Given the description of an element on the screen output the (x, y) to click on. 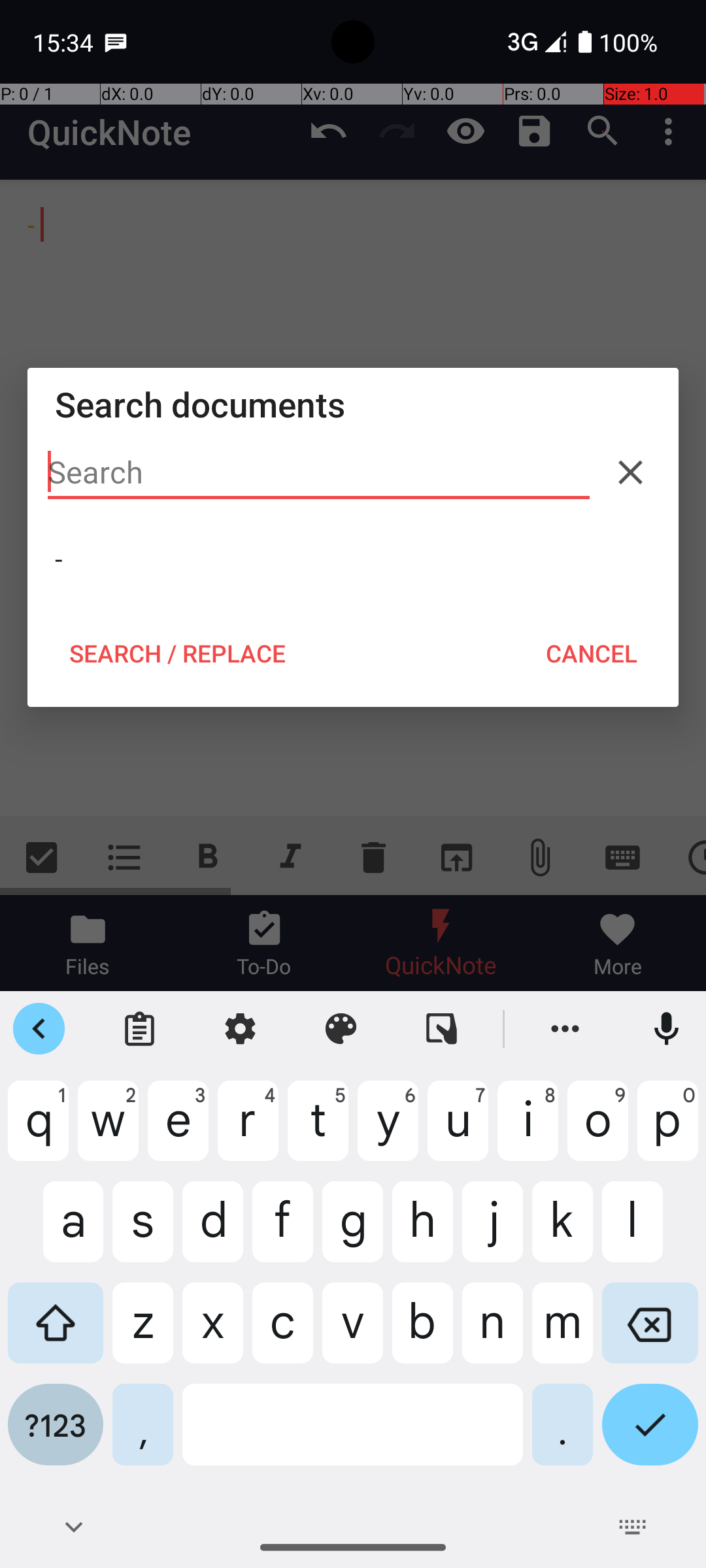
-  Element type: android.widget.TextView (352, 558)
